Given the description of an element on the screen output the (x, y) to click on. 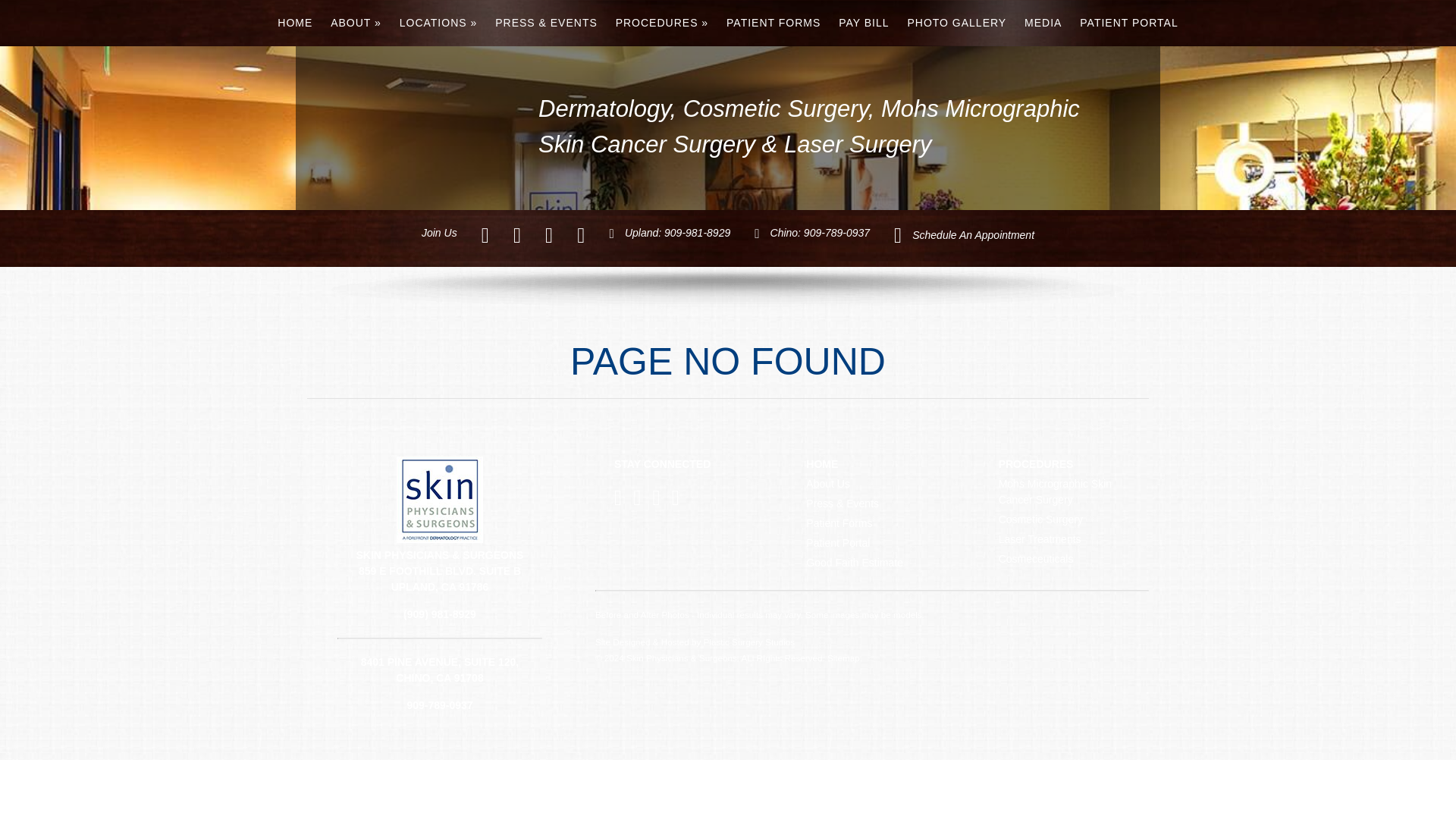
HOME (294, 22)
ABOUT (355, 22)
LOCATIONS (437, 22)
PROCEDURES (662, 22)
